Given the description of an element on the screen output the (x, y) to click on. 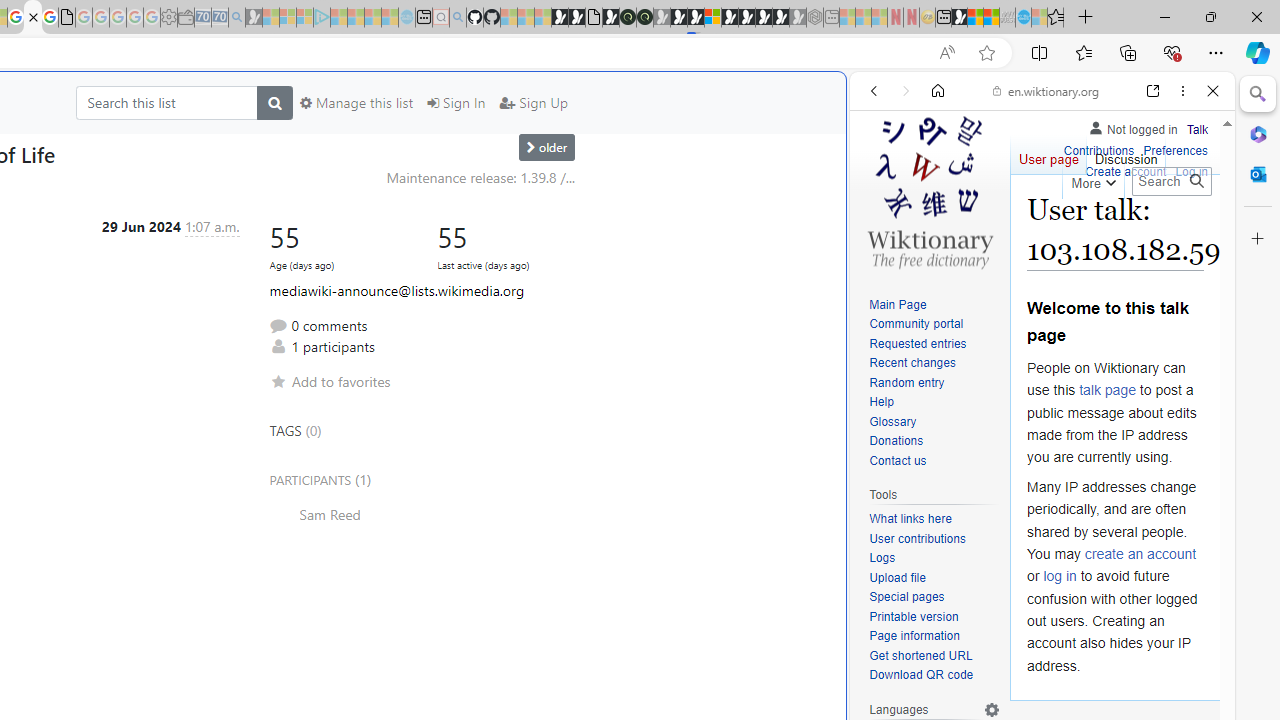
Random entry (906, 382)
Glossary (892, 421)
log in (1059, 576)
Maintenance release: 1.39.8 /... (480, 177)
Recent changes (934, 363)
Search this list (166, 102)
